Given the description of an element on the screen output the (x, y) to click on. 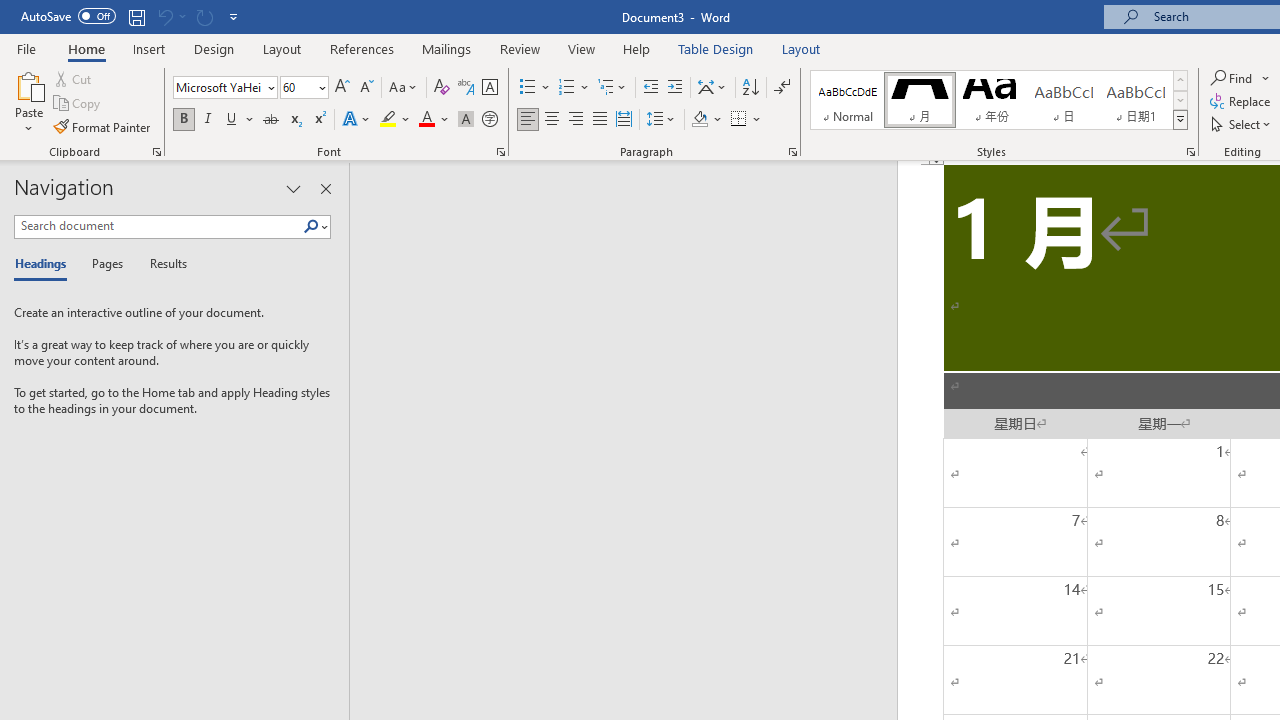
Can't Undo (170, 15)
